Given the description of an element on the screen output the (x, y) to click on. 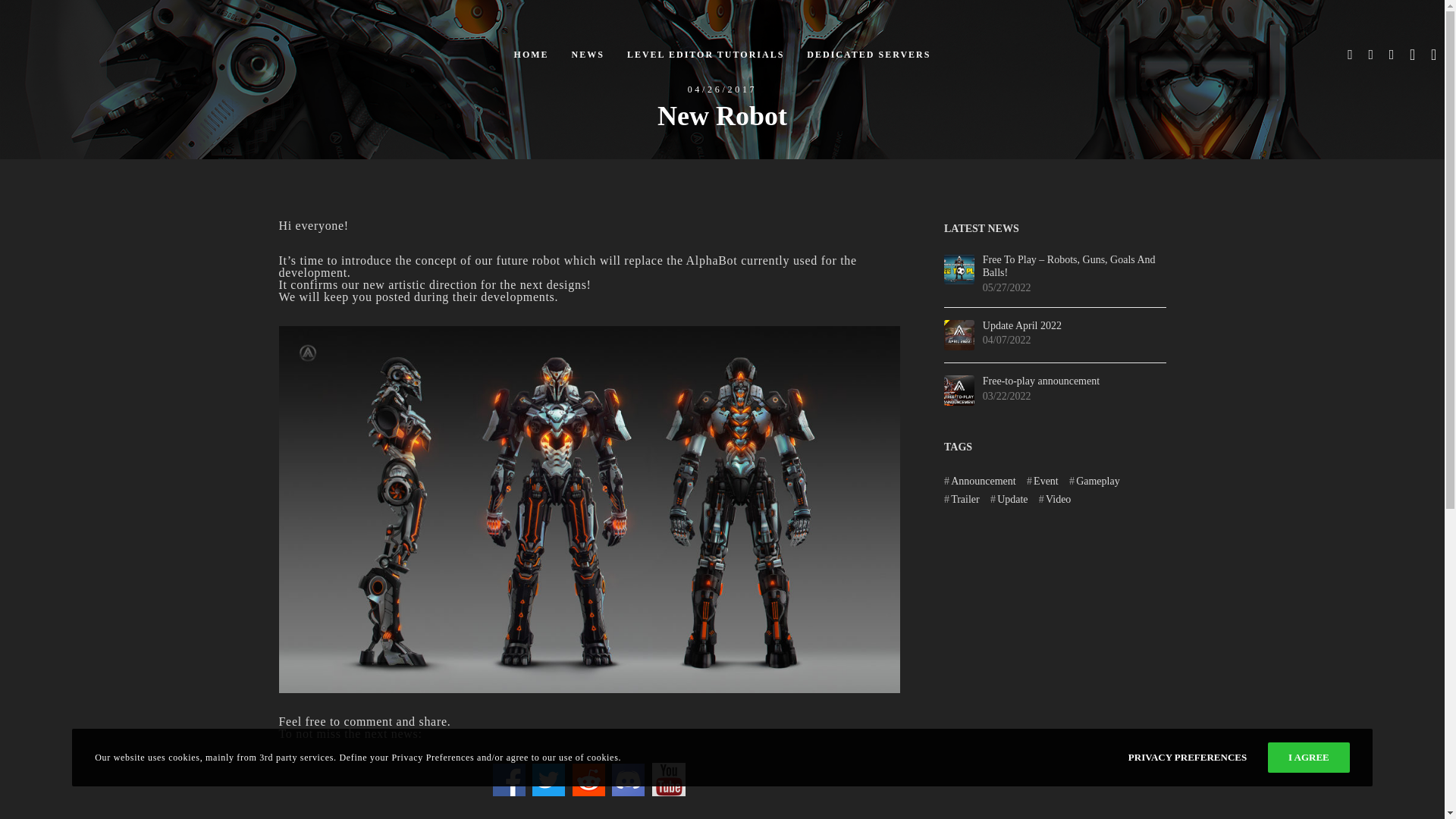
Free-to-play announcement (958, 390)
LEVEL EDITOR TUTORIALS (704, 54)
Gameplay (1093, 481)
Update April 2022 (958, 335)
Event (1042, 481)
DEDICATED SERVERS (868, 54)
HOME (531, 54)
Video (1055, 499)
Update April 2022 (1074, 326)
Update April 2022 (1074, 326)
